Given the description of an element on the screen output the (x, y) to click on. 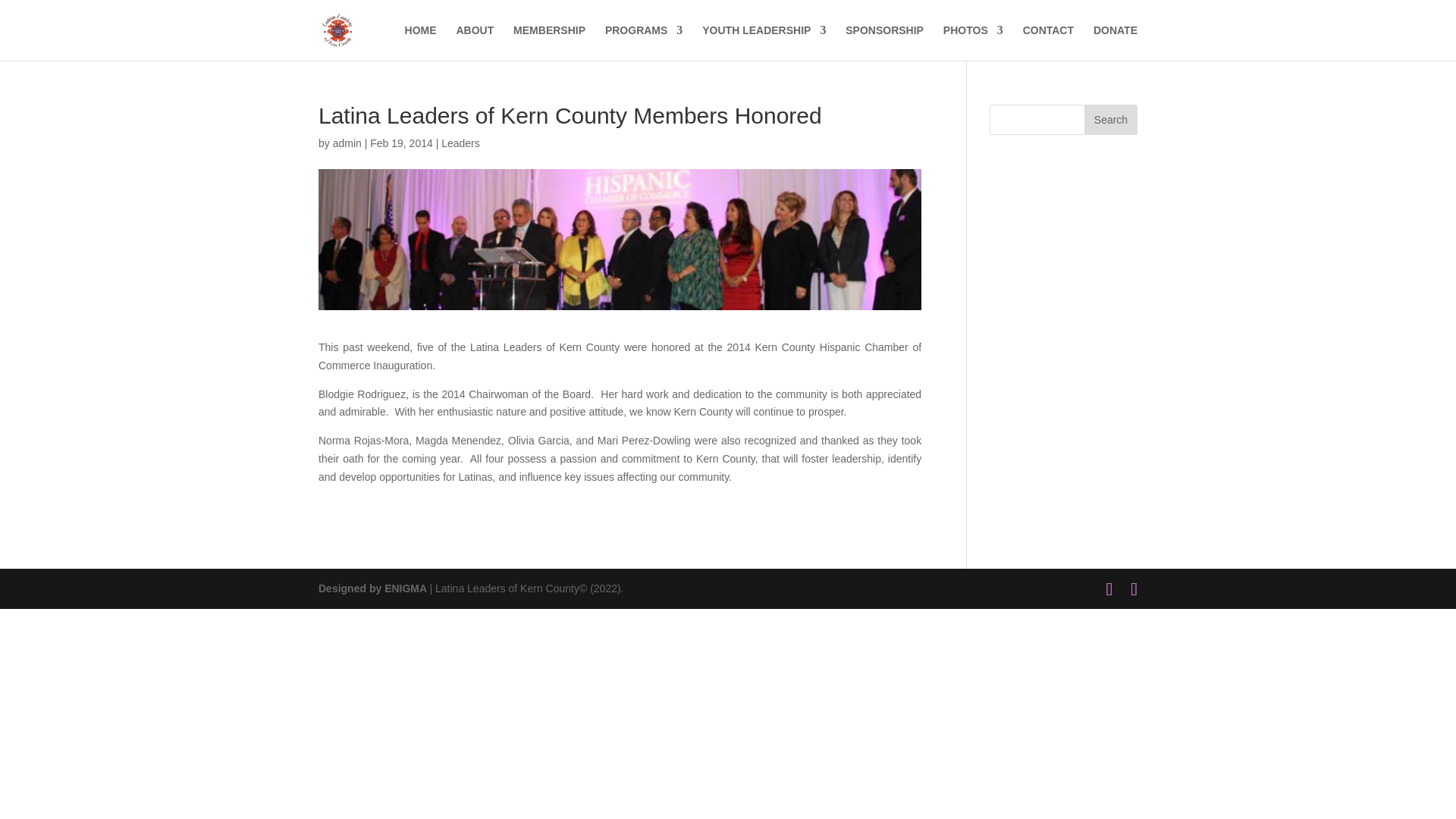
CONTACT (1048, 42)
MEMBERSHIP (549, 42)
PHOTOS (973, 42)
admin (347, 143)
Leaders (460, 143)
HOME (420, 42)
ABOUT (474, 42)
Search (1110, 119)
DONATE (1115, 42)
Posts by admin (347, 143)
